Given the description of an element on the screen output the (x, y) to click on. 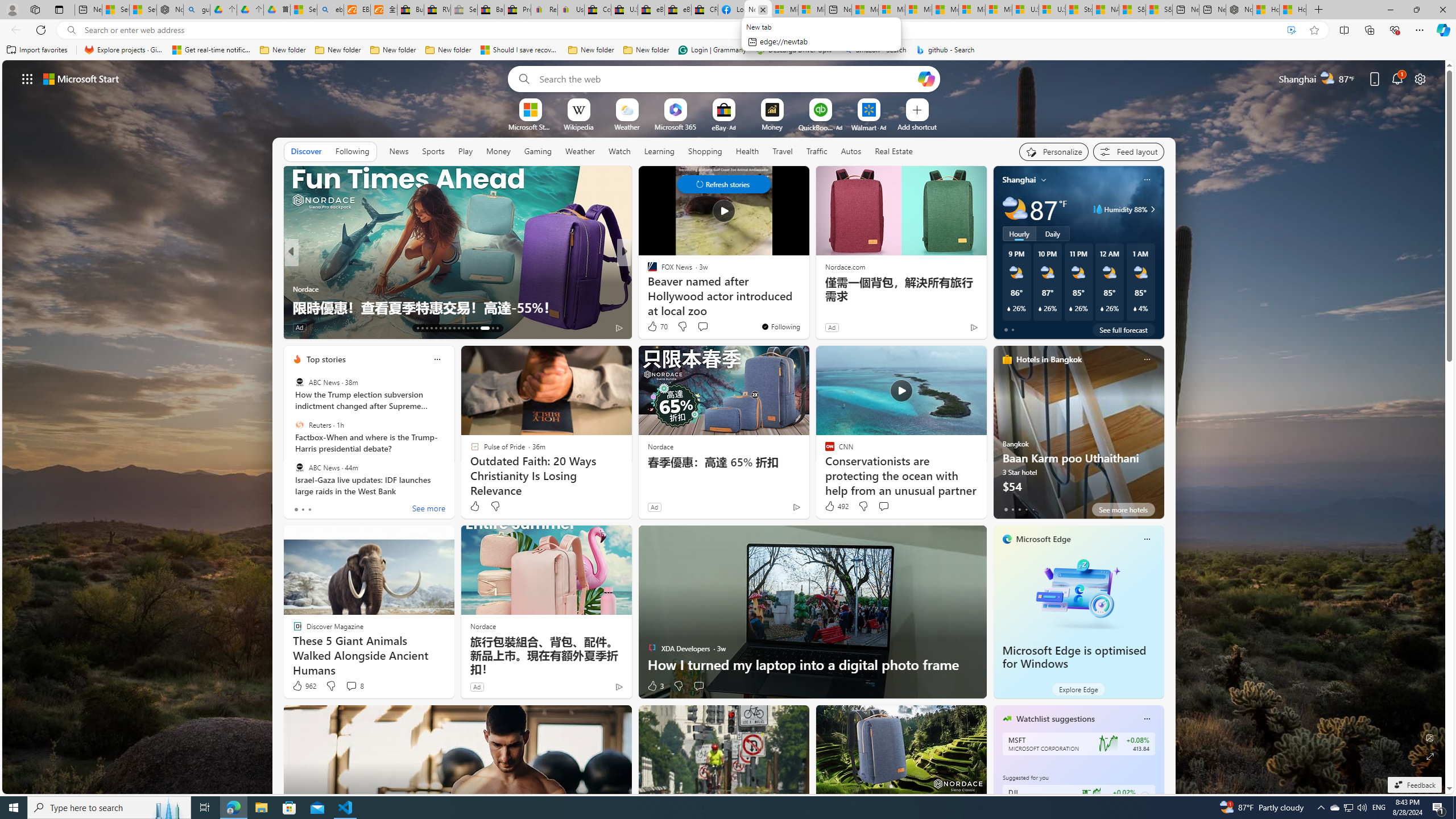
Shopping (705, 151)
View comments 8 Comment (350, 685)
U.S. State Privacy Disclosures - eBay Inc. (623, 9)
Should I save recovered Word documents? - Microsoft Support (519, 49)
Microsoft account | Home (917, 9)
AutomationID: tab-33 (484, 328)
Weather (579, 151)
